Given the description of an element on the screen output the (x, y) to click on. 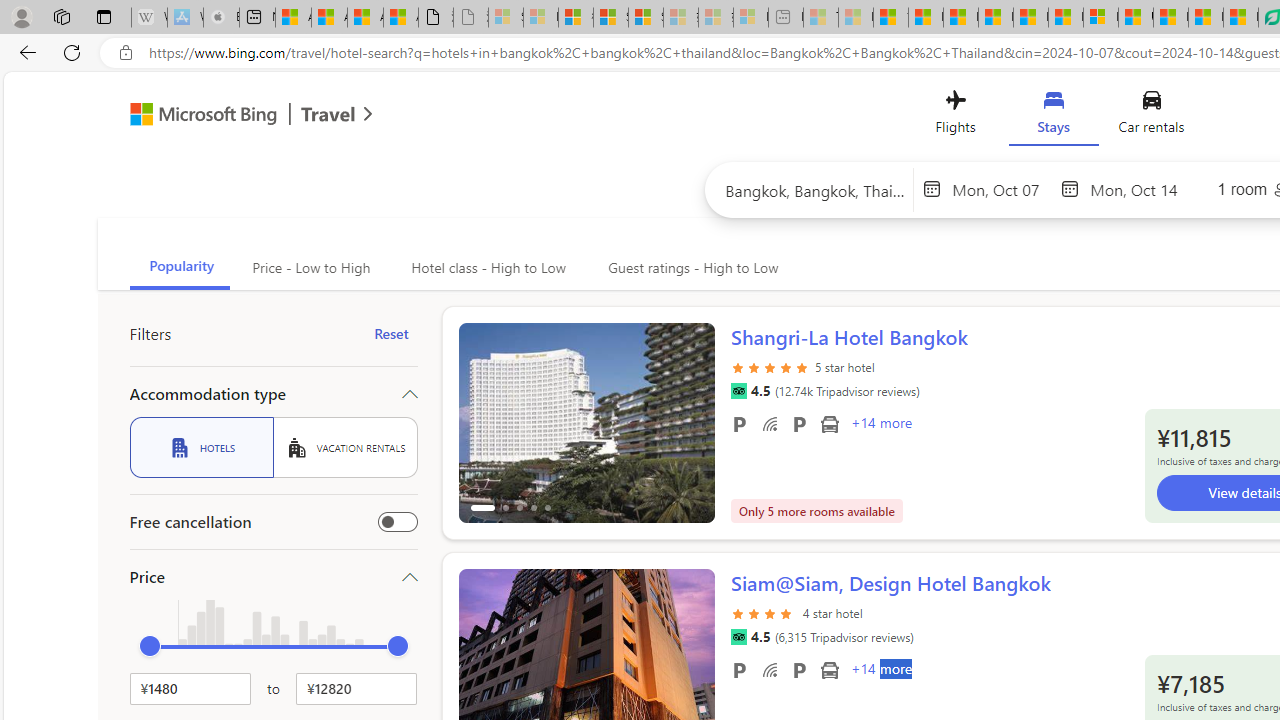
Class: msft-bing-logo msft-bing-logo-desktop (198, 114)
Guest ratings - High to Low (690, 268)
Free cancellation (397, 521)
star rating (763, 624)
Popularity (179, 268)
Marine life - MSN - Sleeping (855, 17)
Flights (955, 116)
max  (397, 645)
Microsoft Services Agreement - Sleeping (540, 17)
Class: msft-travel-logo (328, 114)
min  (149, 645)
